Given the description of an element on the screen output the (x, y) to click on. 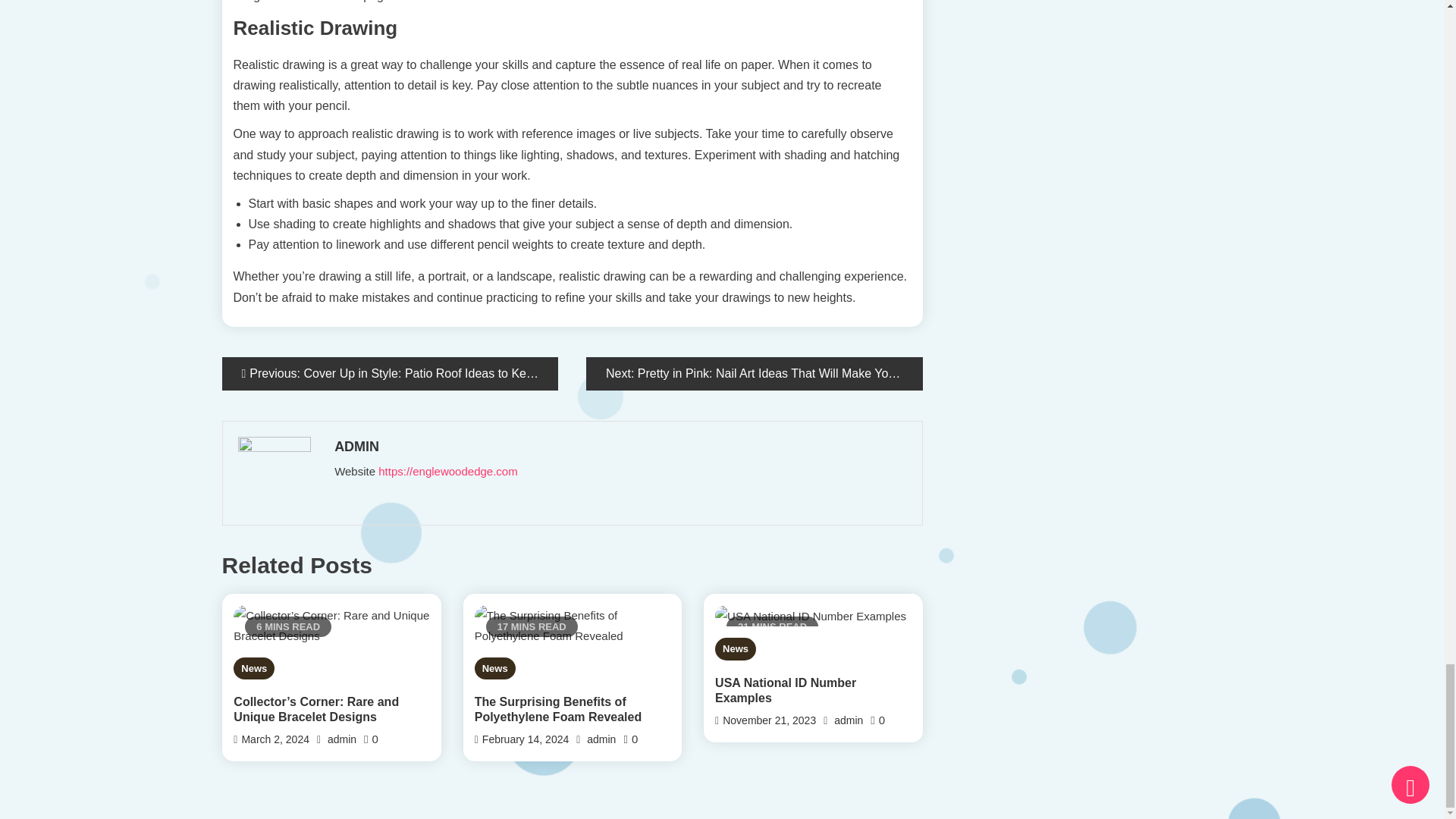
Posts by admin (618, 446)
